Given the description of an element on the screen output the (x, y) to click on. 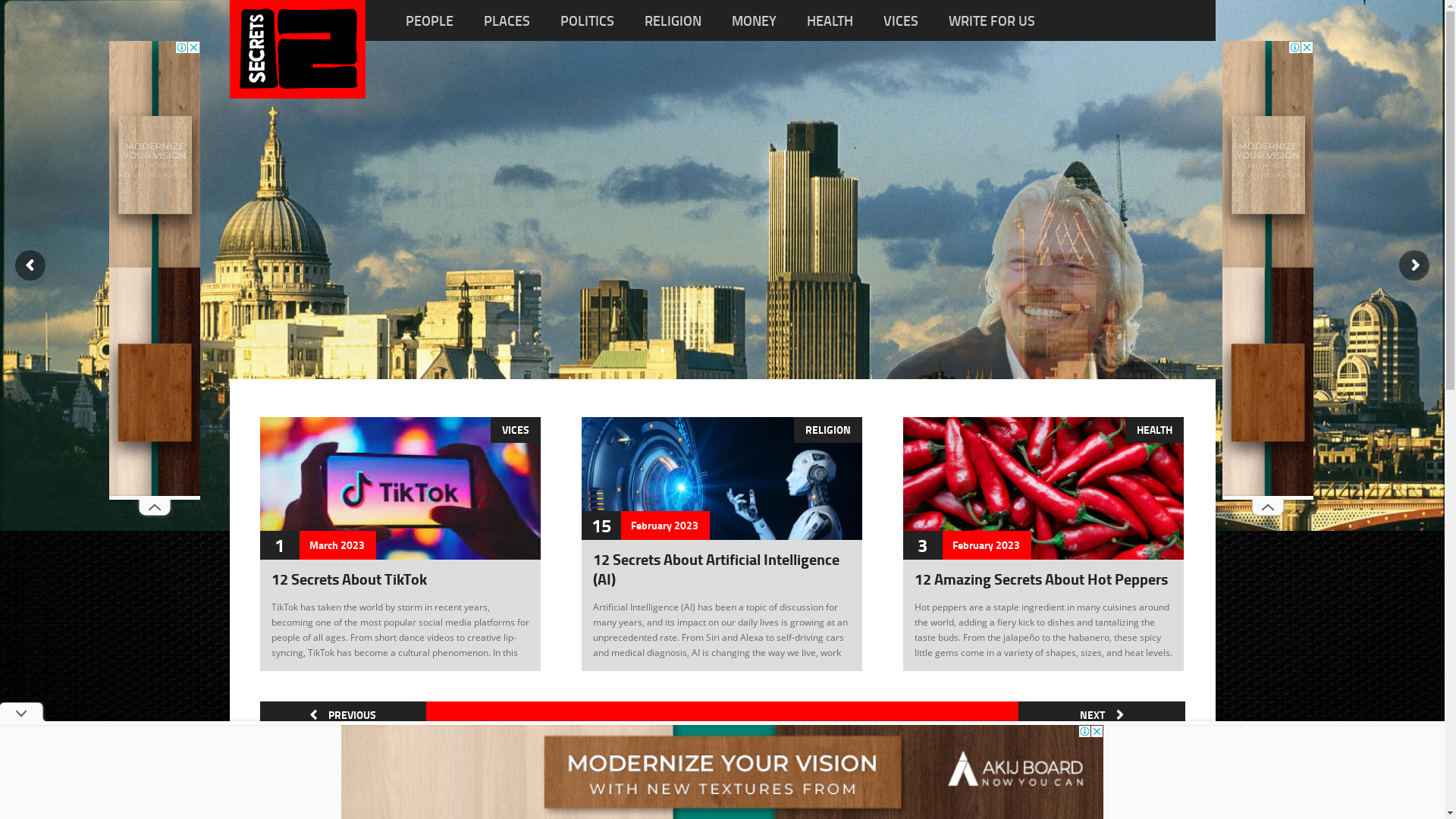
MONEY Element type: text (753, 20)
12 Secrets Element type: hover (296, 86)
Advertisement Element type: hover (1267, 267)
PEOPLE Element type: text (429, 20)
HEALTH Element type: text (829, 20)
Advertisement Element type: hover (154, 267)
HEALTH Element type: text (1154, 429)
WRITE FOR US Element type: text (991, 20)
RELIGION Element type: text (672, 20)
PLACES Element type: text (506, 20)
POLITICS Element type: text (587, 20)
VICES Element type: text (900, 20)
RELIGION Element type: text (827, 429)
12 Secrets About Artificial Intelligence (AI) Element type: text (716, 568)
12 Secrets About TikTok Element type: text (348, 578)
VICES Element type: text (514, 429)
12 Amazing Secrets About Hot Peppers Element type: text (1040, 578)
